Given the description of an element on the screen output the (x, y) to click on. 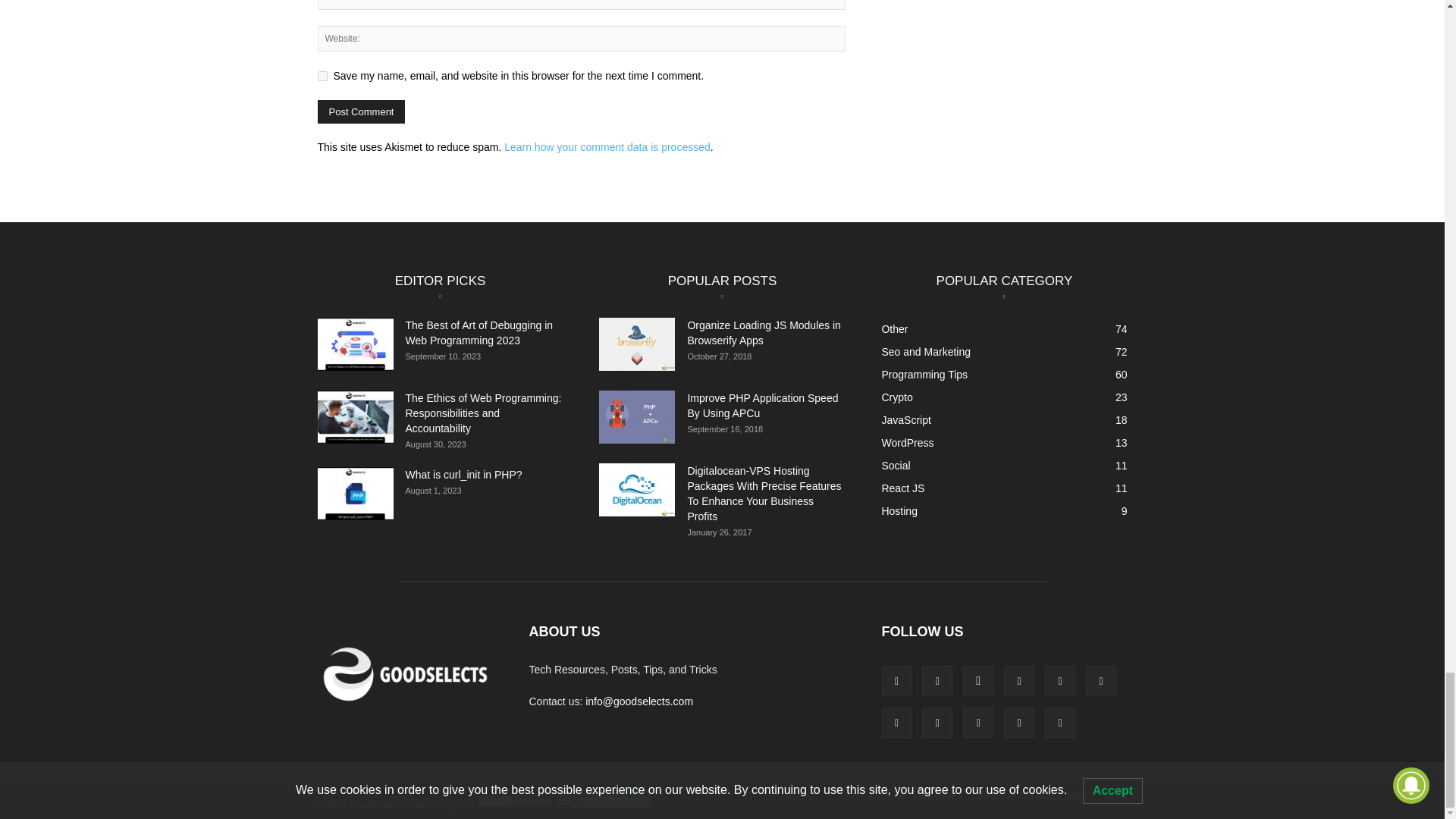
yes (321, 76)
Post Comment (360, 111)
